Given the description of an element on the screen output the (x, y) to click on. 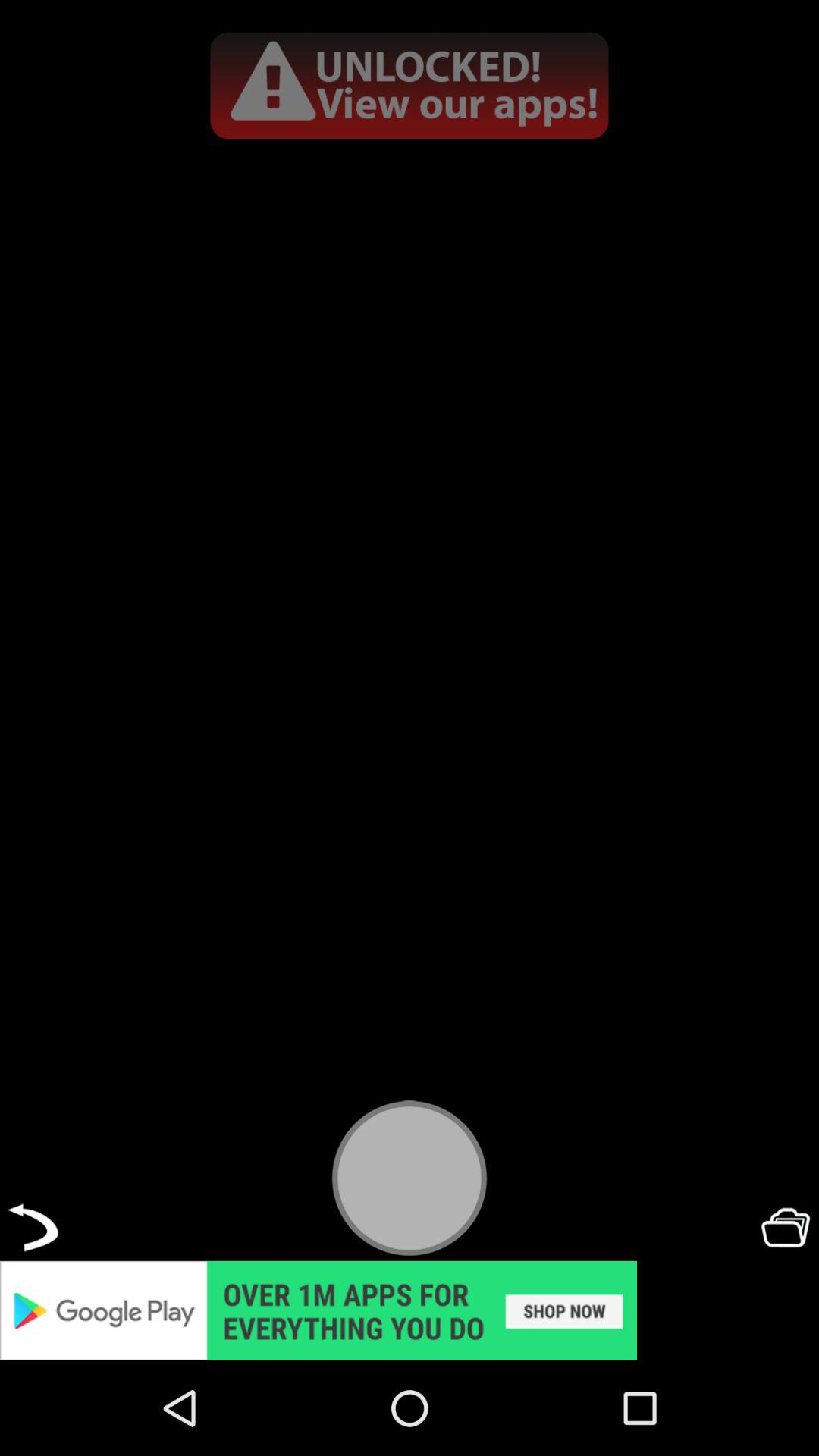
pop-up advertisement (409, 1310)
